Given the description of an element on the screen output the (x, y) to click on. 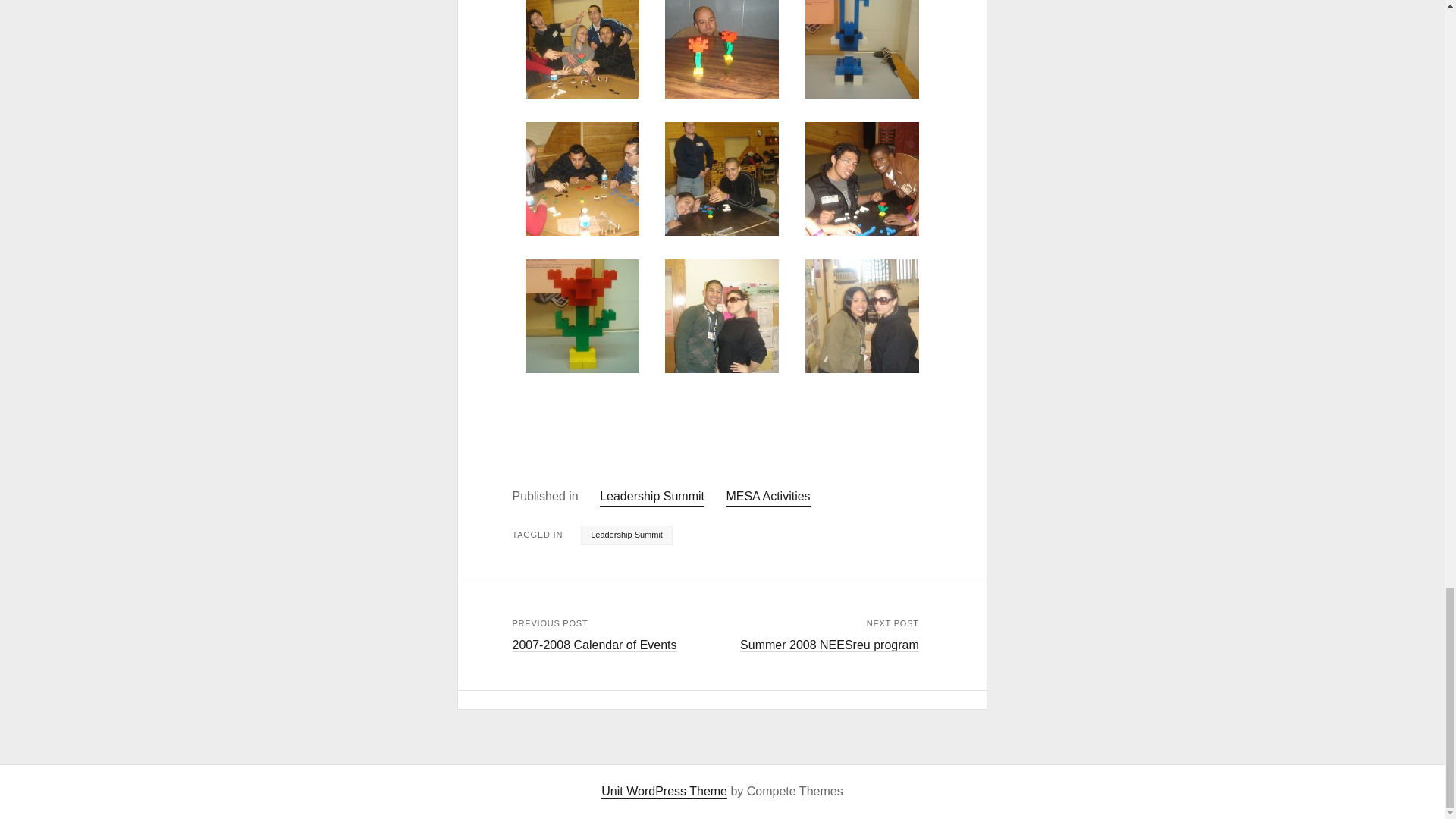
MESA Activities (767, 496)
Summer 2008 NEESreu program (828, 644)
Unit WordPress Theme (663, 791)
Leadership Summit (651, 496)
2007-2008 Calendar of Events (594, 644)
Leadership Summit (626, 535)
View all posts tagged Leadership Summit (626, 535)
View all posts in MESA Activities (767, 496)
View all posts in Leadership Summit (651, 496)
